Given the description of an element on the screen output the (x, y) to click on. 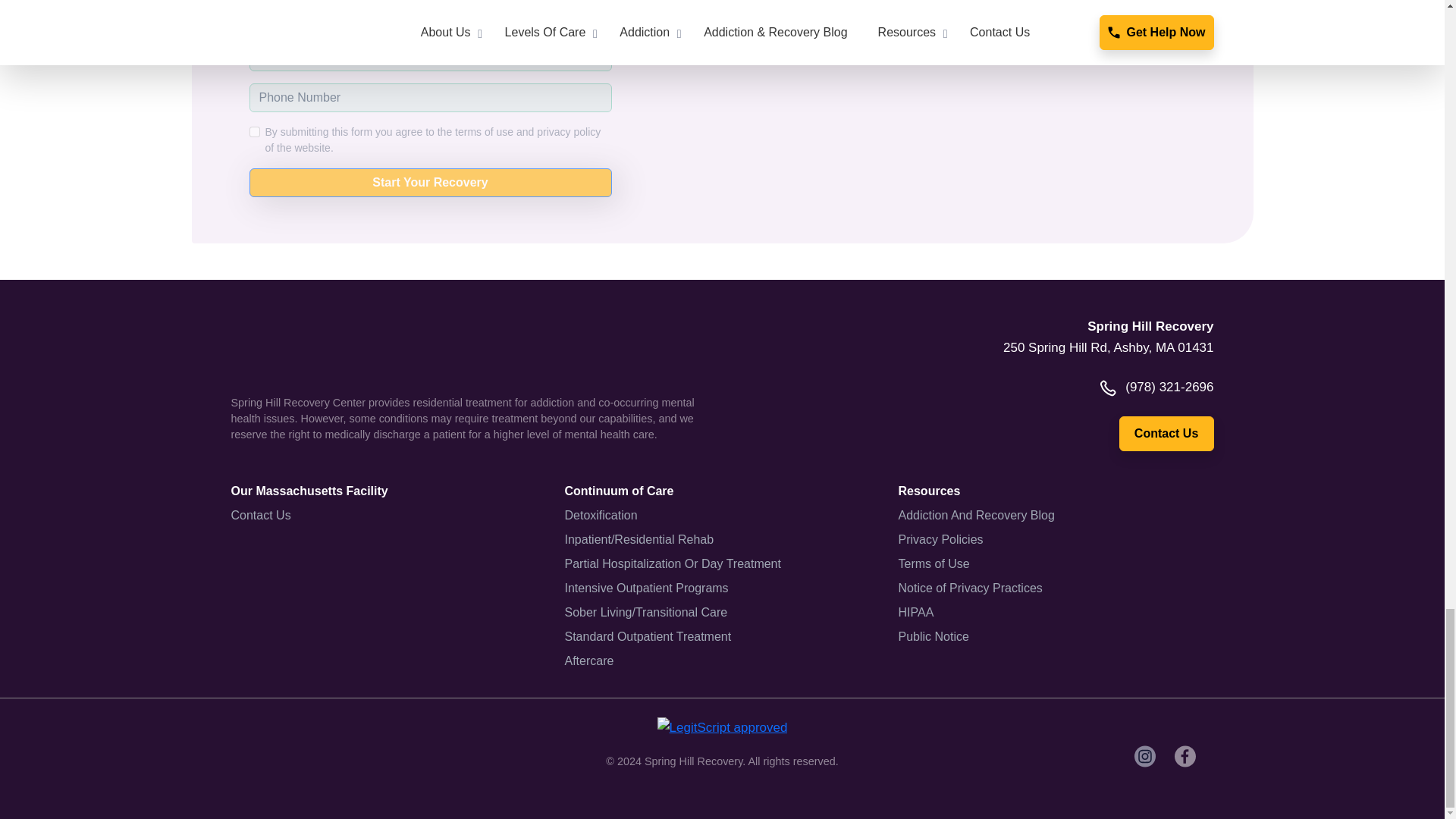
on (253, 131)
Verify LegitScript Approval (722, 726)
